Given the description of an element on the screen output the (x, y) to click on. 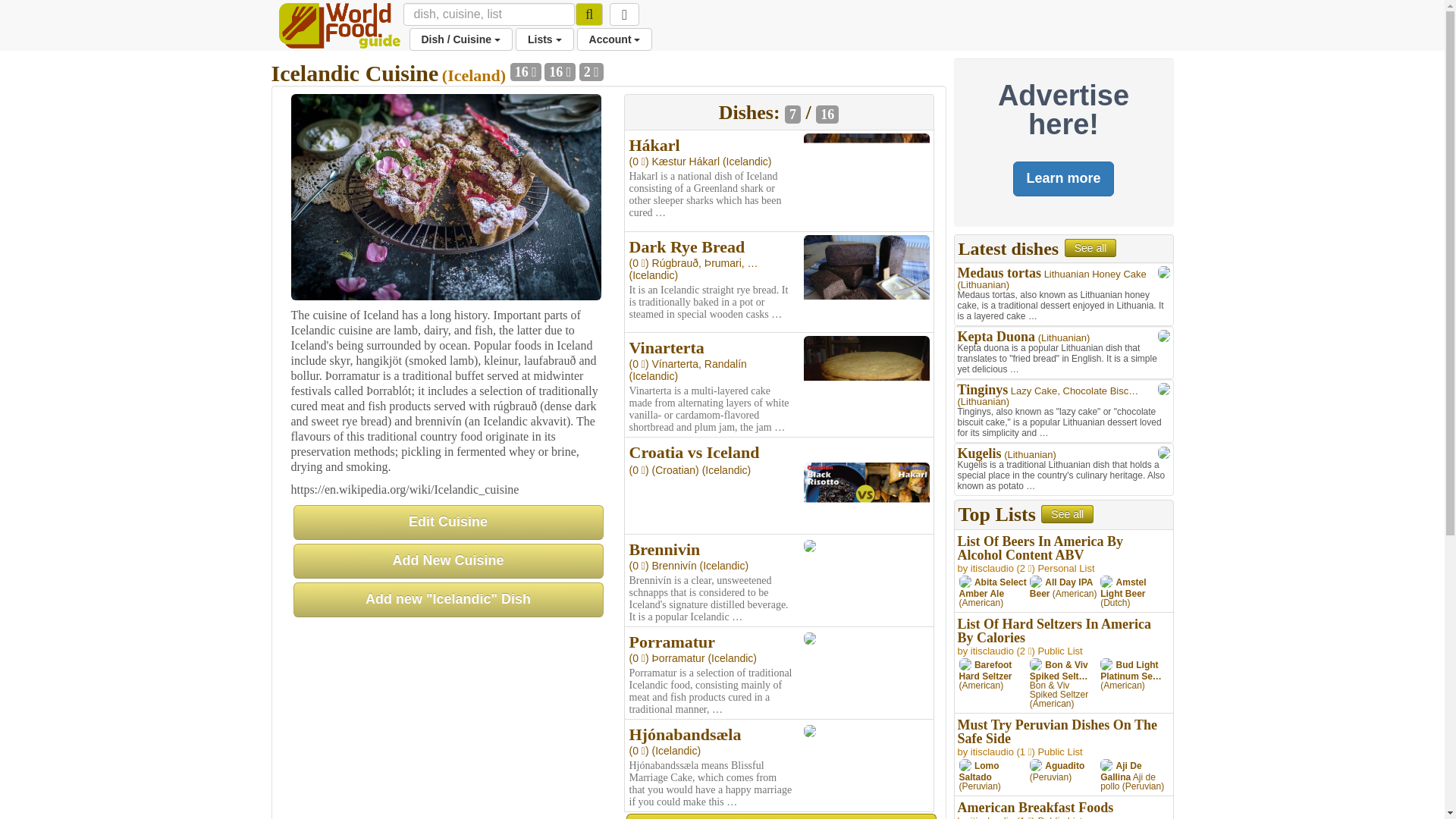
Click to see the photo (866, 495)
See all Icelandic dishes (781, 816)
Click to see the photo (866, 280)
Click to see the photo (809, 544)
Lists (544, 38)
Number of dishes (526, 72)
Add New Cuisine (447, 560)
Click to see the photo (809, 636)
Dark Rye Bread (686, 246)
Click to see the photo (866, 179)
